Given the description of an element on the screen output the (x, y) to click on. 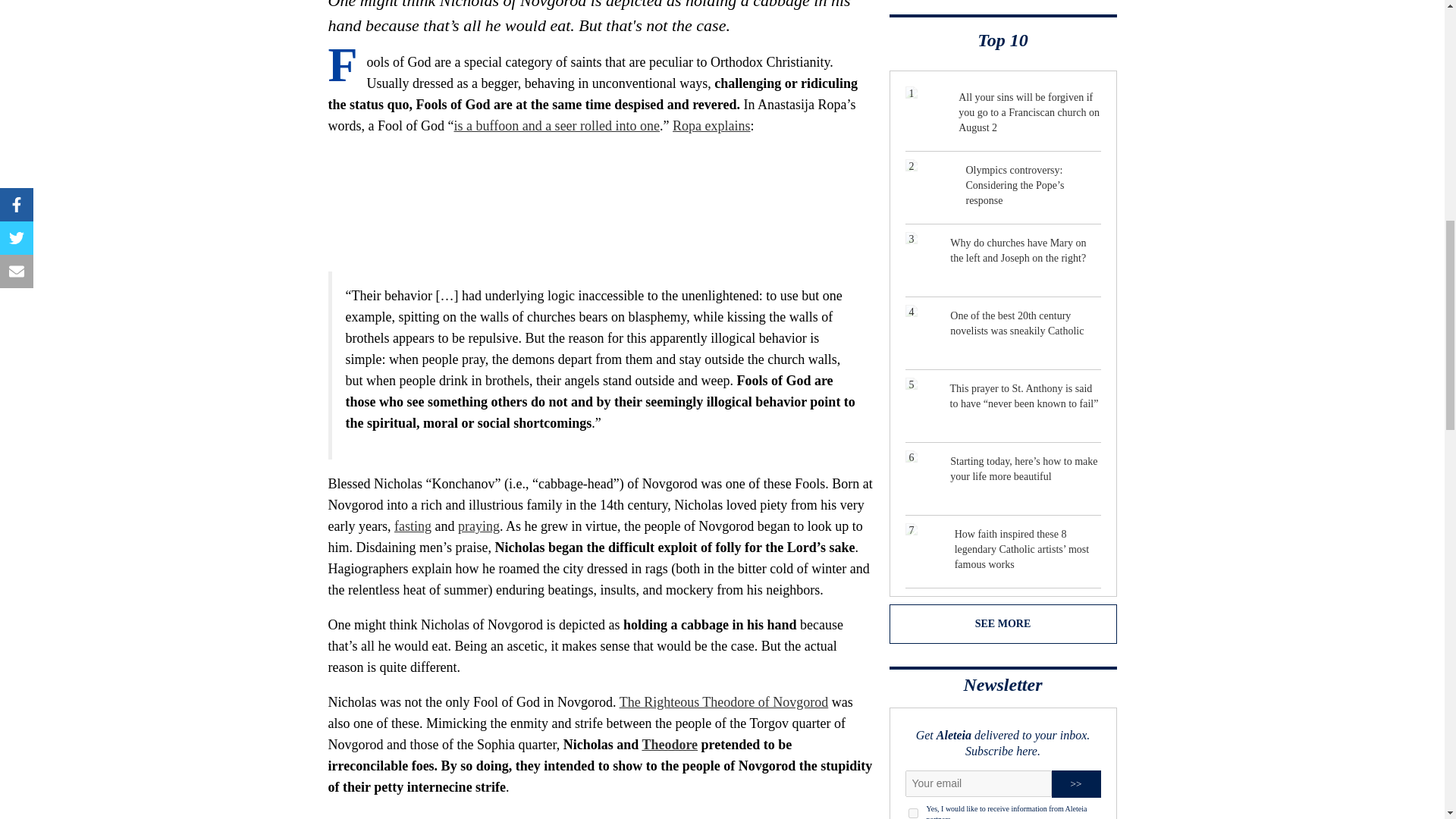
Ropa explains (710, 125)
is a buffoon and a seer rolled into one (555, 125)
1 (913, 813)
